Given the description of an element on the screen output the (x, y) to click on. 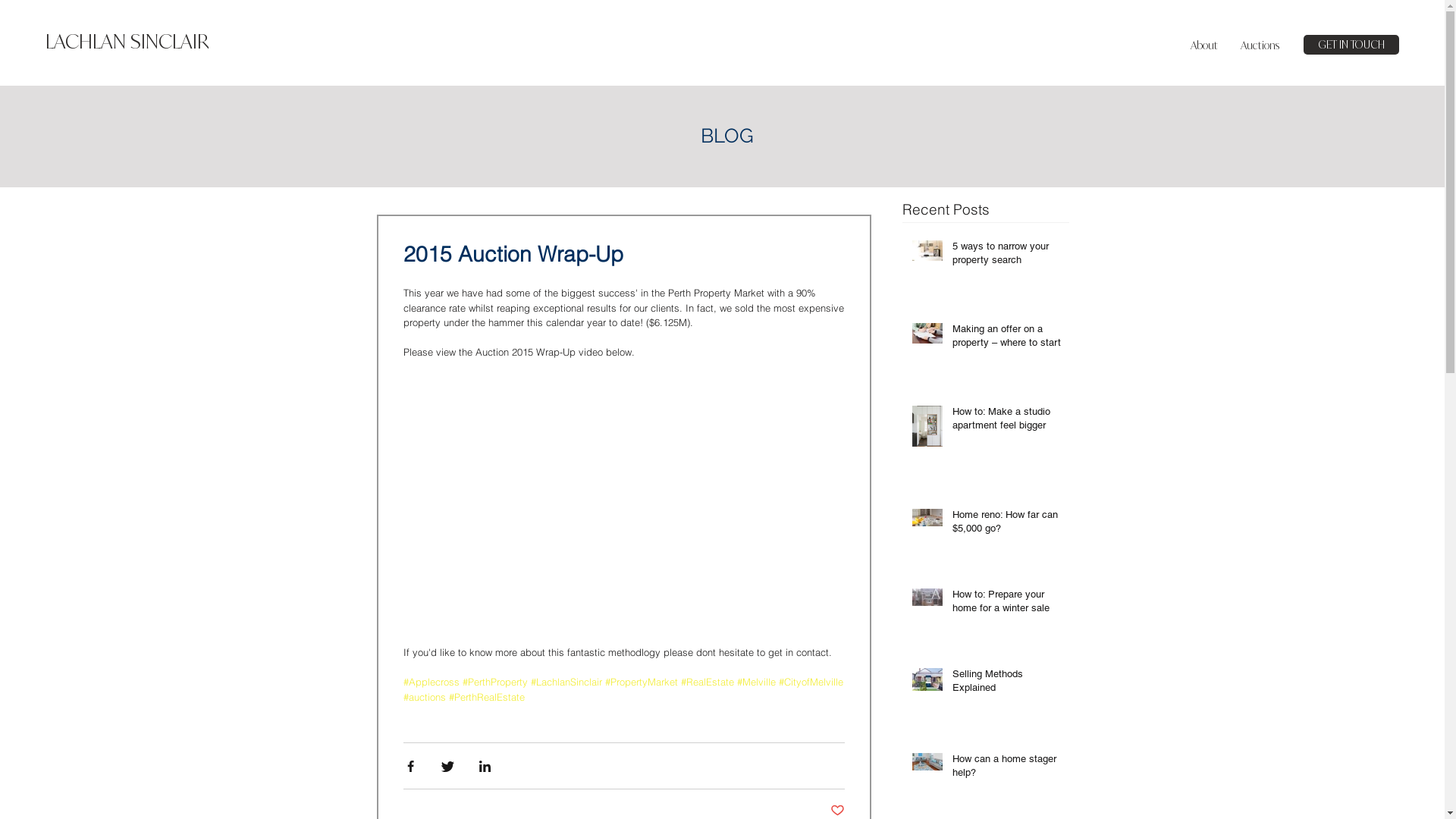
LACHLAN SINCLAIR Element type: text (127, 40)
How to: Make a studio apartment feel bigger Element type: text (1009, 421)
About Element type: text (1204, 44)
How can a home stager help? Element type: text (1009, 768)
GET IN TOUCH Element type: text (1351, 44)
Auctions Element type: text (1259, 44)
#auctions Element type: text (424, 696)
#RealEstate Element type: text (707, 681)
Home reno: How far can $5,000 go? Element type: text (1009, 524)
#PerthProperty Element type: text (494, 681)
Selling Methods Explained Element type: text (1009, 683)
#CityofMelville Element type: text (810, 681)
5 ways to narrow your property search Element type: text (1009, 256)
#PropertyMarket Element type: text (641, 681)
#PerthRealEstate Element type: text (486, 696)
#LachlanSinclair Element type: text (566, 681)
How to: Prepare your home for a winter sale Element type: text (1009, 604)
#Applecross Element type: text (431, 681)
#Melville Element type: text (756, 681)
